Given the description of an element on the screen output the (x, y) to click on. 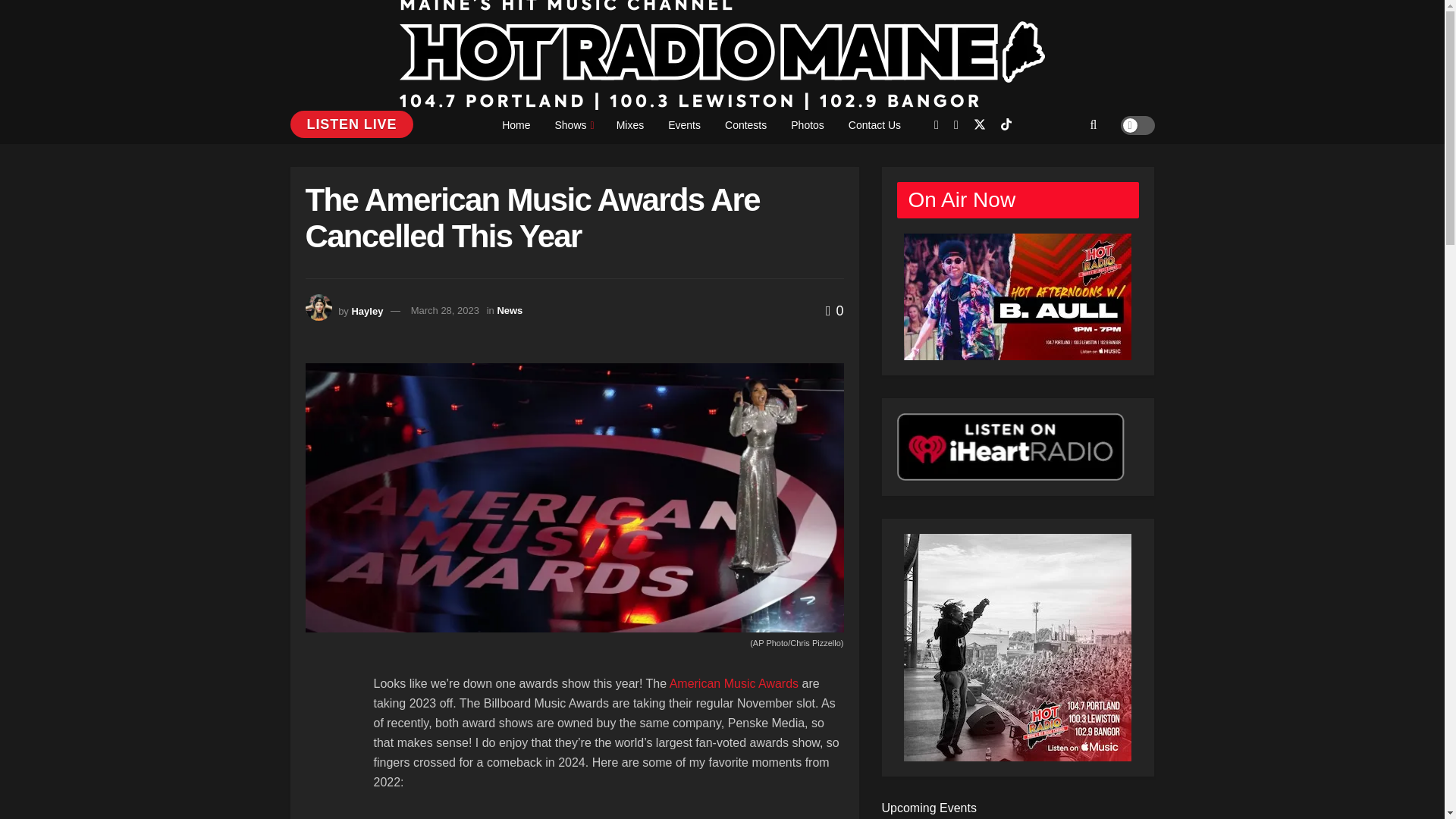
Hayley (366, 310)
Photos (806, 125)
Mixes (630, 125)
Contact Us (873, 125)
LISTEN LIVE (351, 124)
Events (684, 125)
Home (515, 125)
Shows (572, 125)
Contests (745, 125)
